Given the description of an element on the screen output the (x, y) to click on. 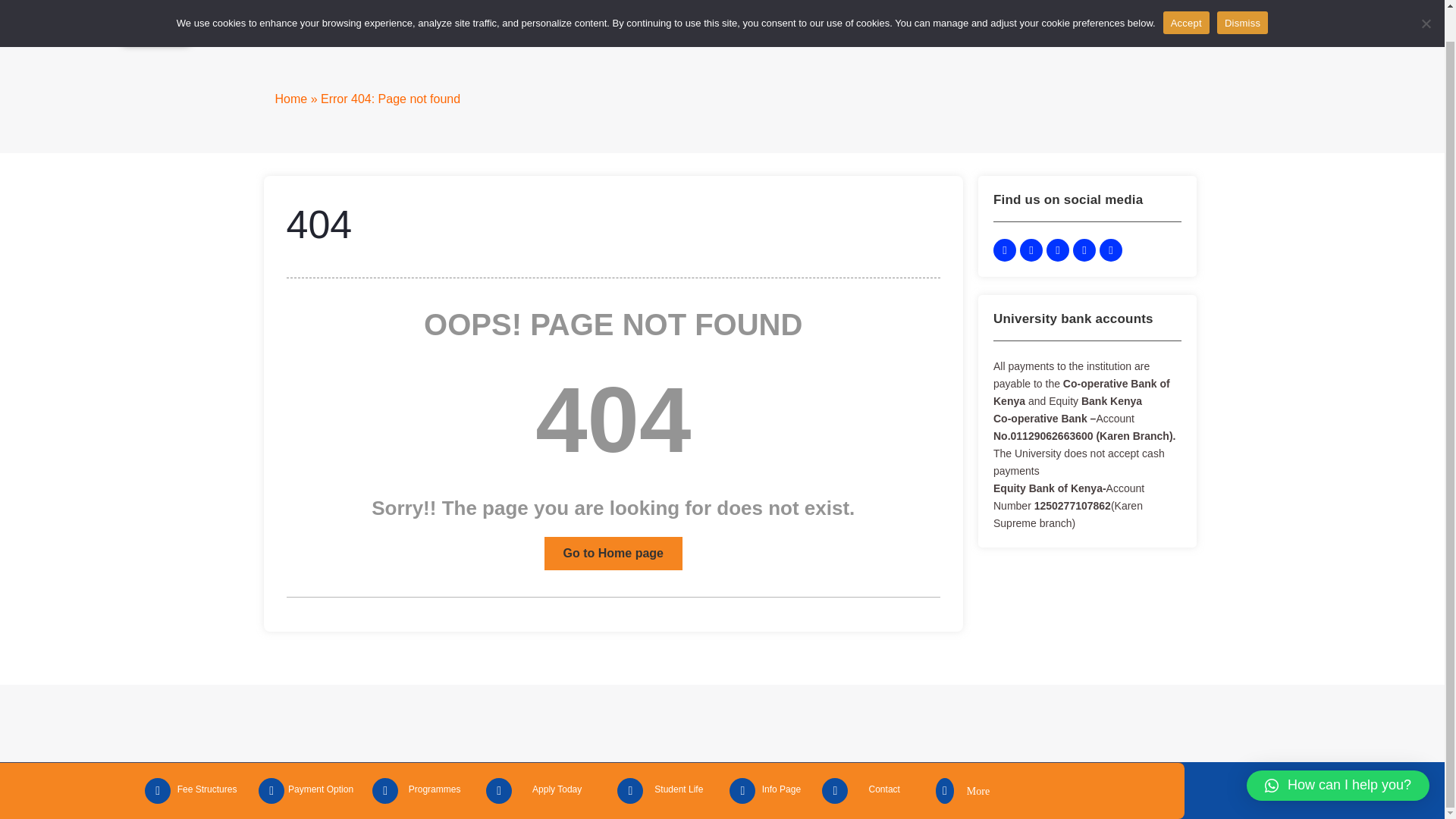
ACADEMICS (893, 25)
